Given the description of an element on the screen output the (x, y) to click on. 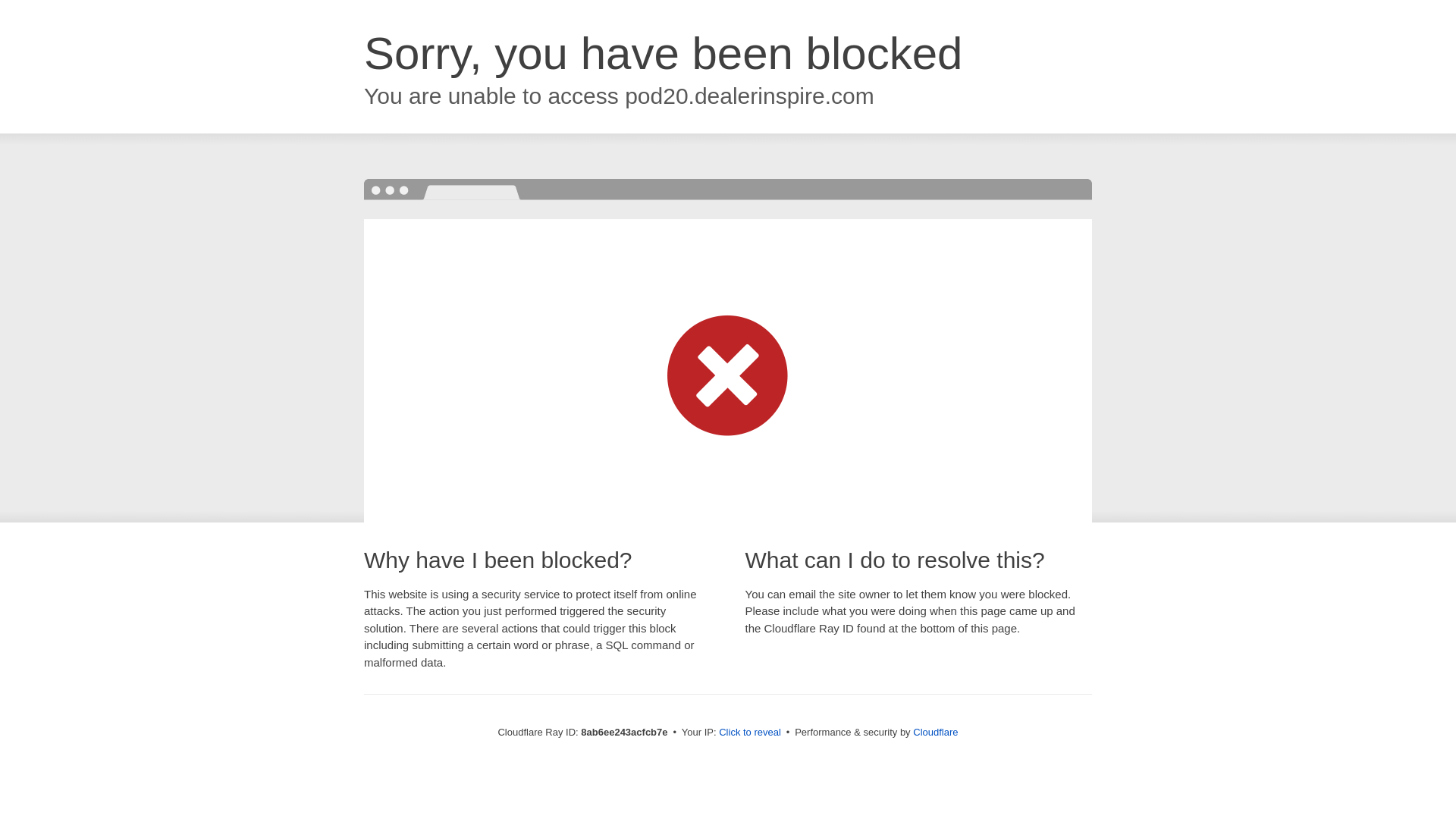
Click to reveal (749, 732)
Cloudflare (935, 731)
